Given the description of an element on the screen output the (x, y) to click on. 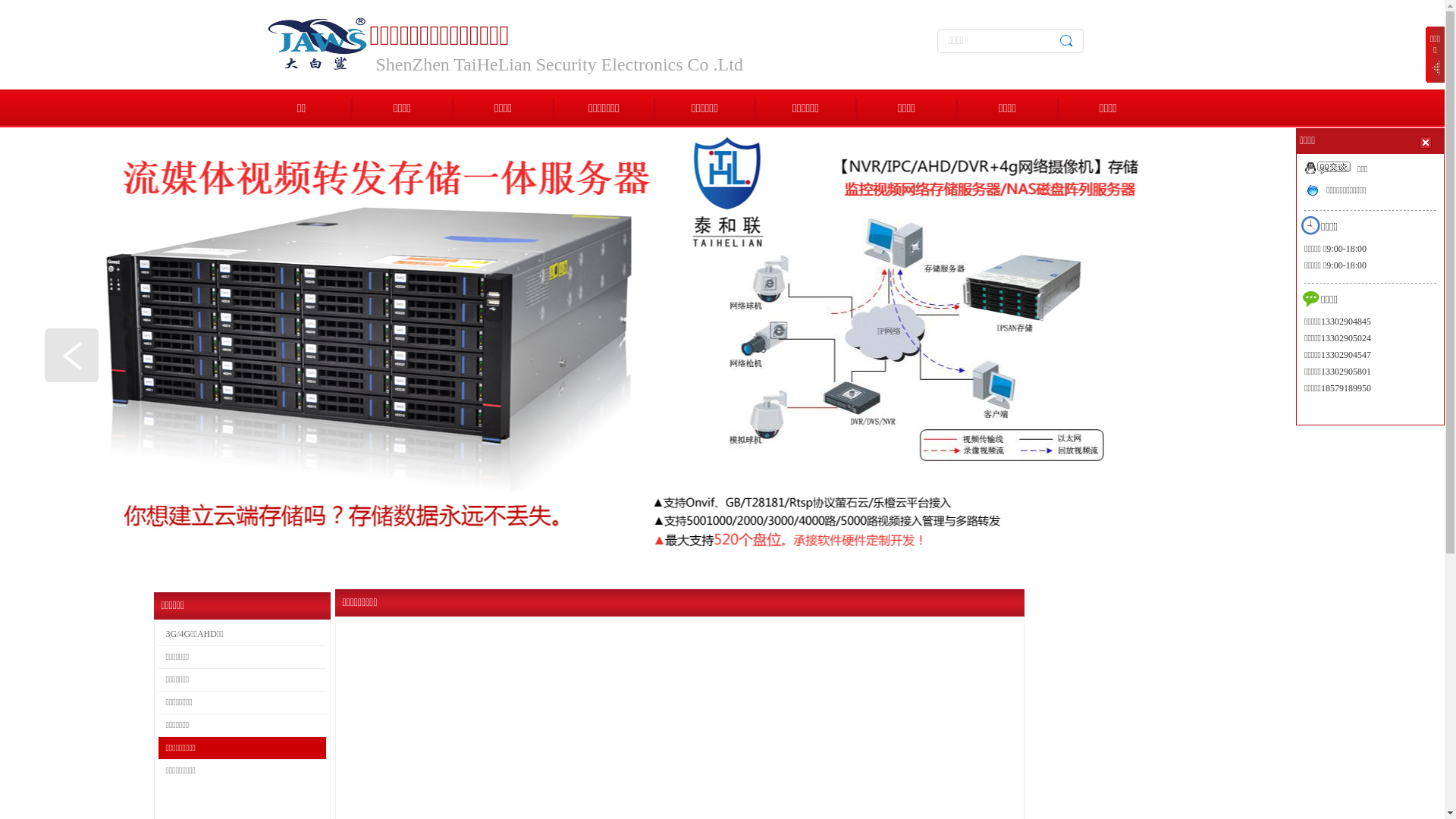
  Element type: text (1426, 141)
